Given the description of an element on the screen output the (x, y) to click on. 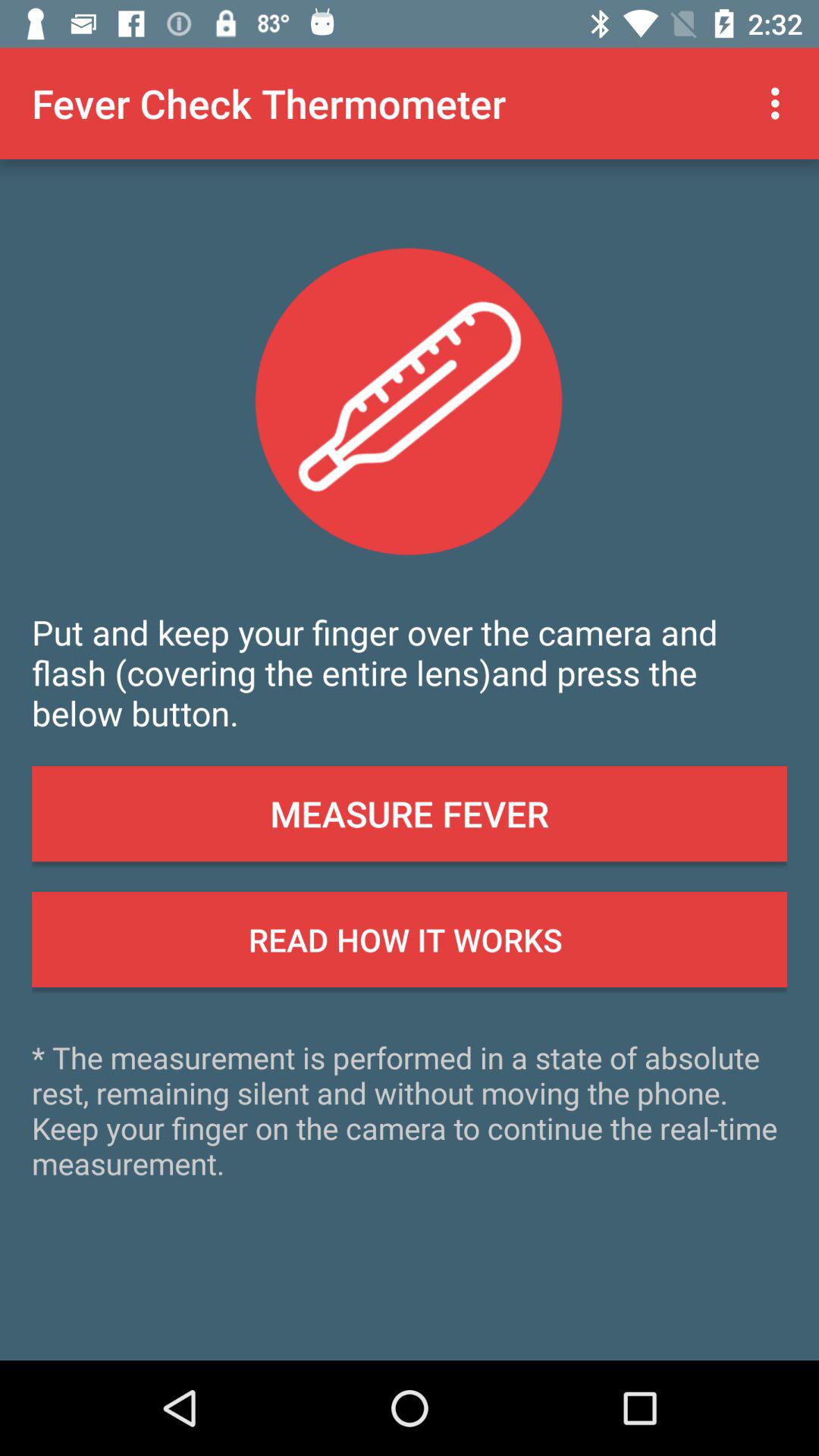
swipe until measure fever icon (409, 813)
